Given the description of an element on the screen output the (x, y) to click on. 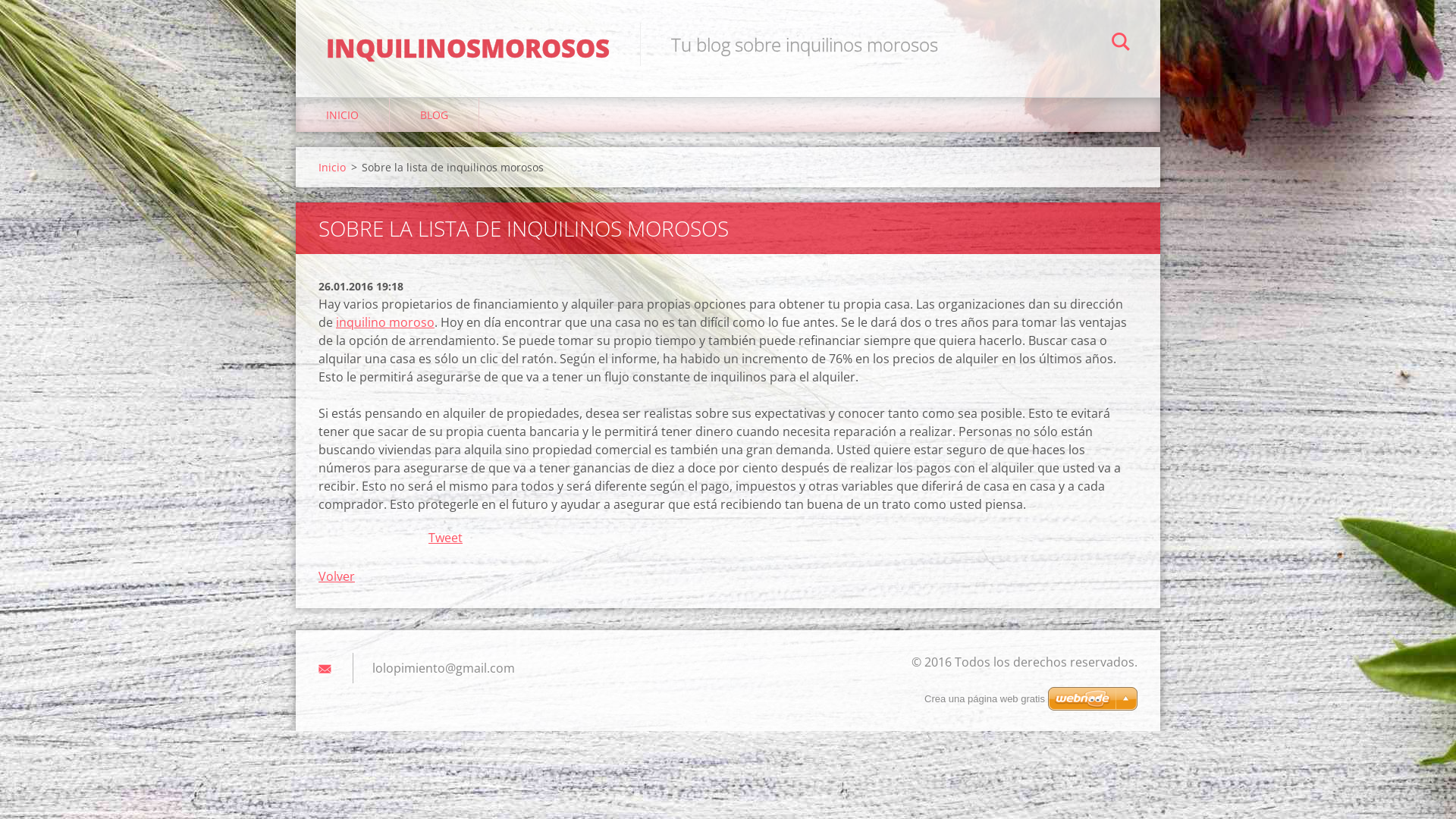
BLOG Element type: text (434, 114)
INQUILINOSMOROSOS Element type: text (467, 33)
INICIO Element type: text (342, 114)
Tweet Element type: text (445, 537)
lolopimiento@gmail.com Element type: text (443, 667)
Volver Element type: text (336, 576)
Inicio Element type: text (331, 166)
Buscar Element type: text (1120, 43)
inquilino moroso Element type: text (384, 321)
